Given the description of an element on the screen output the (x, y) to click on. 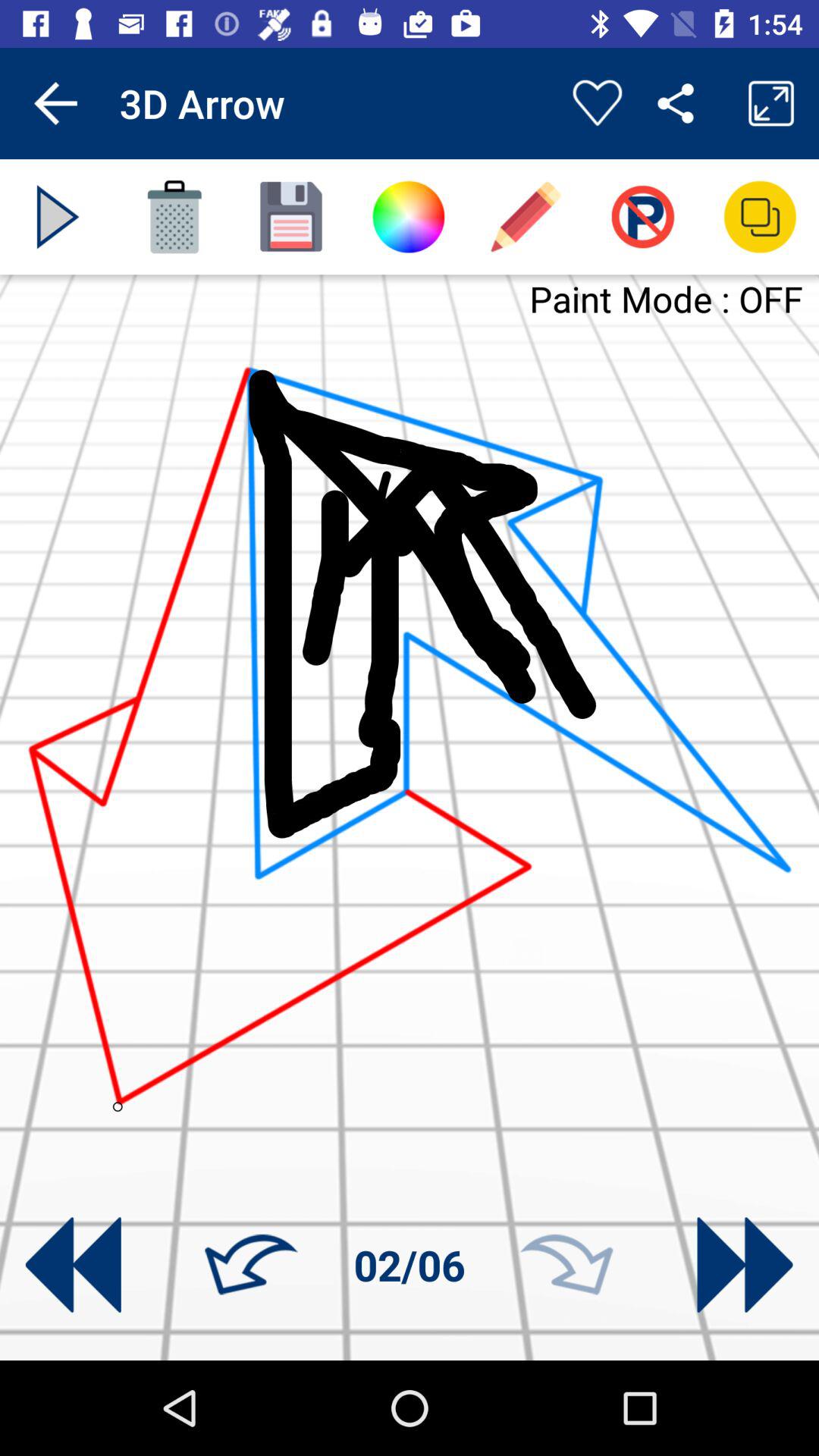
rotate or switch images (744, 1264)
